Given the description of an element on the screen output the (x, y) to click on. 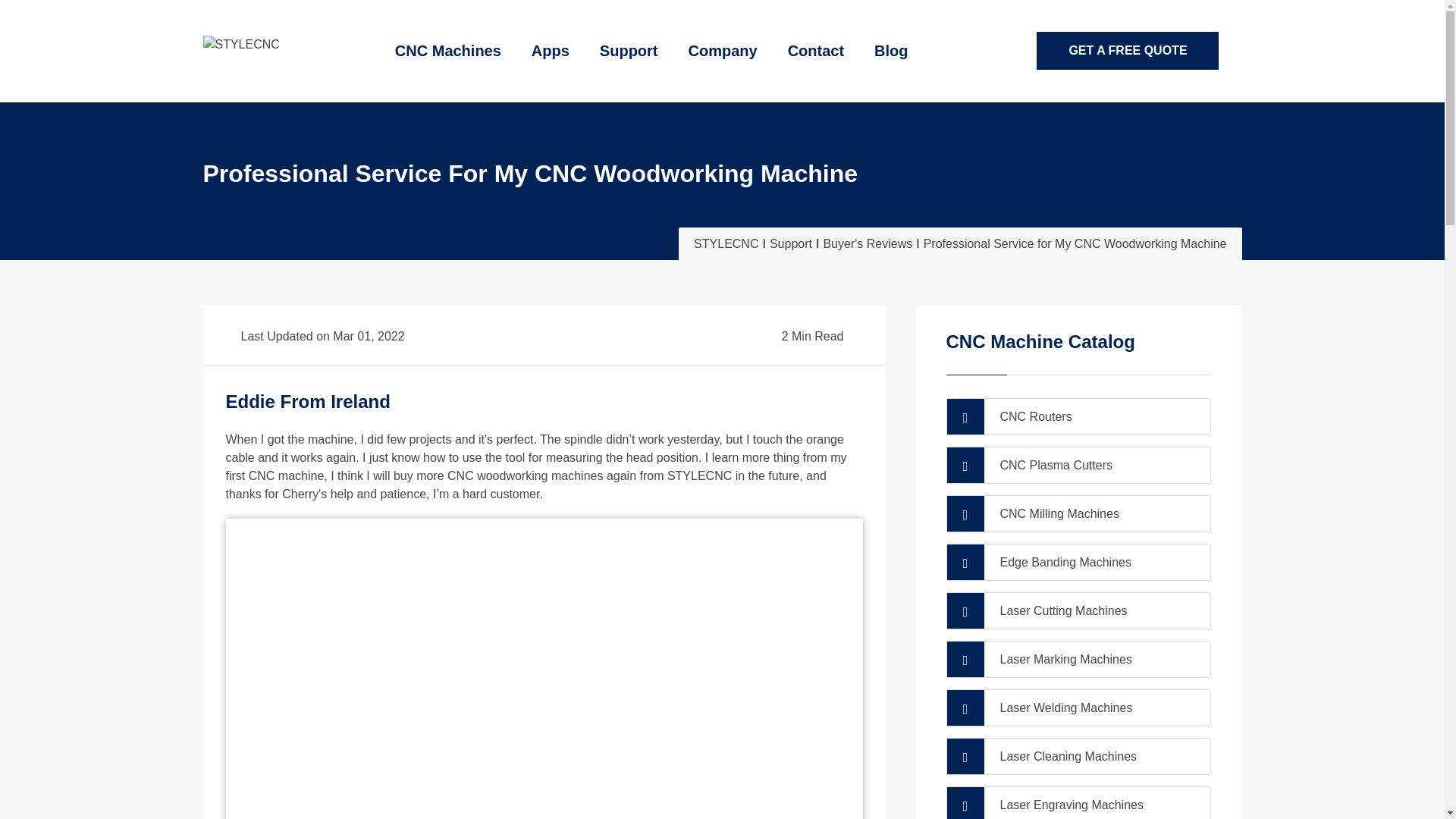
STYLECNC (241, 45)
CNC Machines (448, 51)
CNC Machines (448, 51)
STYLECNC (241, 42)
